Given the description of an element on the screen output the (x, y) to click on. 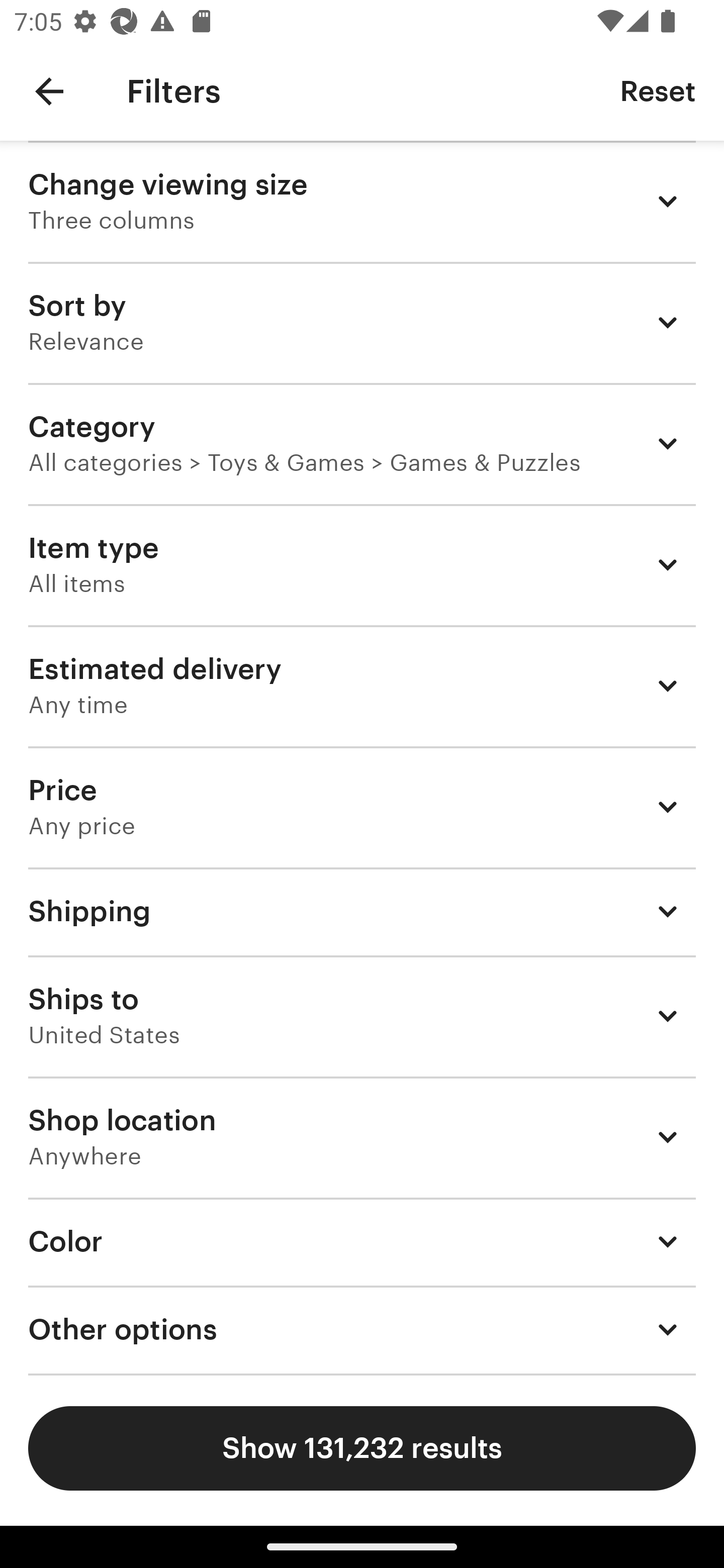
Navigate up (49, 91)
Reset (657, 90)
Change viewing size Three columns (362, 201)
Sort by Relevance (362, 321)
Item type All items (362, 564)
Estimated delivery Any time (362, 685)
Price Any price (362, 806)
Shipping (362, 910)
Ships to United States (362, 1015)
Shop location Anywhere (362, 1137)
Color (362, 1241)
Other options (362, 1329)
Show 131,232 results Show results (361, 1448)
